Given the description of an element on the screen output the (x, y) to click on. 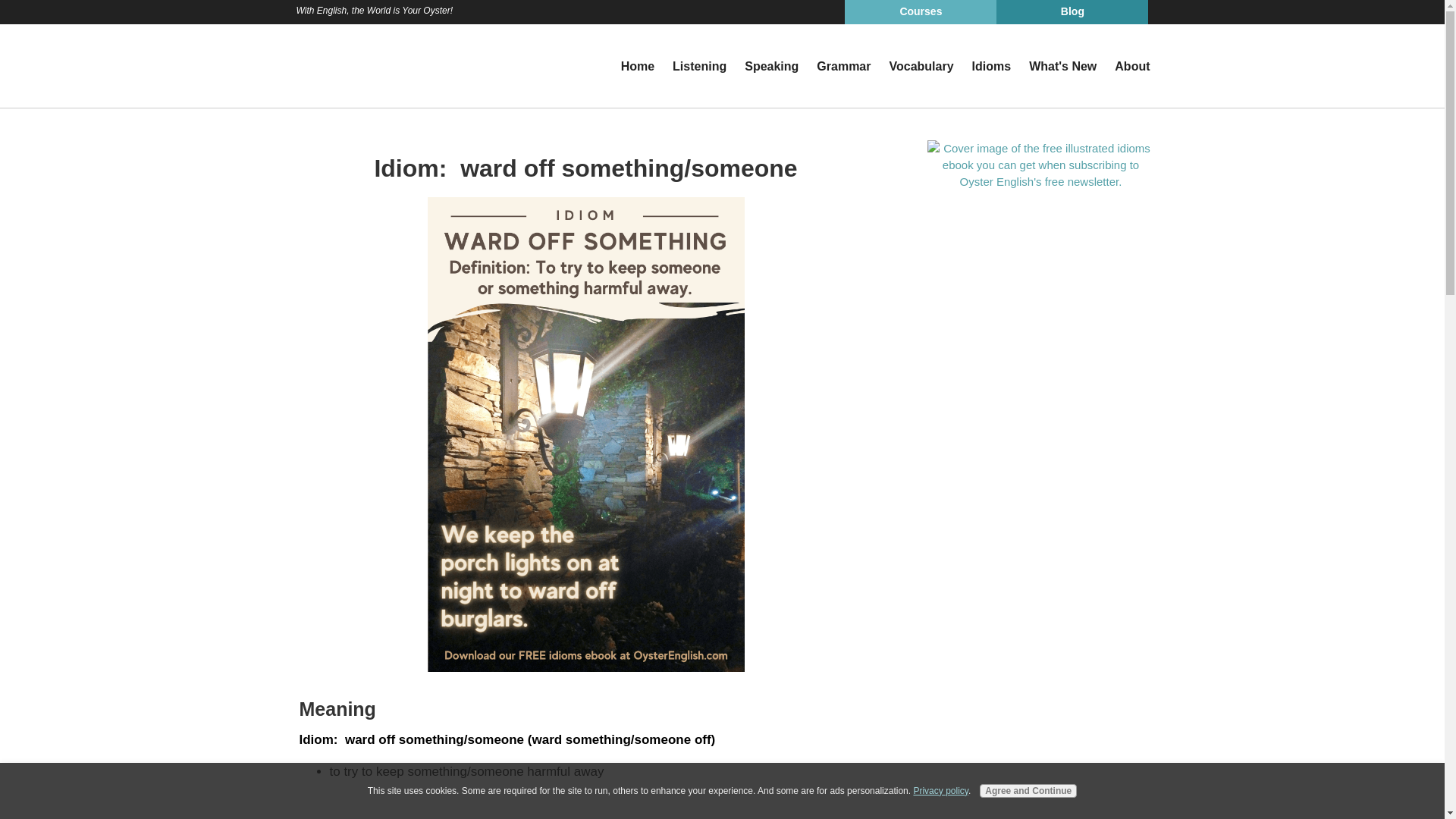
Agree and Continue (1028, 790)
Grammar (843, 66)
Blog (1071, 12)
Vocabulary (920, 66)
OYSTERENGLISH.COM (360, 65)
Go to Signup and receive a free idioms ebook (1040, 180)
Speaking (771, 66)
What's New (1062, 66)
Privacy policy (940, 790)
Subscribe to our newsletter (1040, 164)
